Given the description of an element on the screen output the (x, y) to click on. 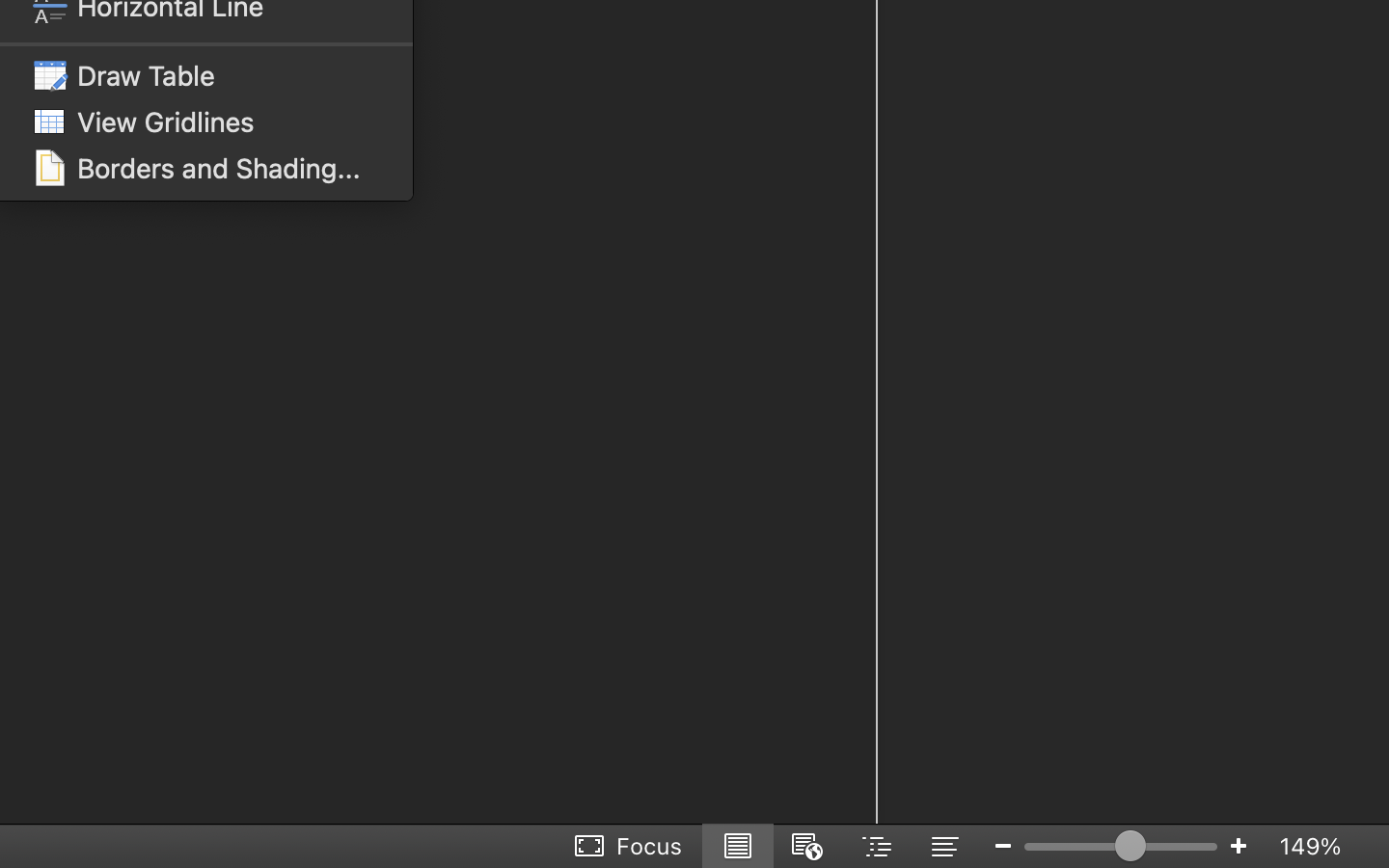
0 Element type: AXCheckBox (629, 845)
1123.0 Element type: AXSlider (1120, 845)
